Given the description of an element on the screen output the (x, y) to click on. 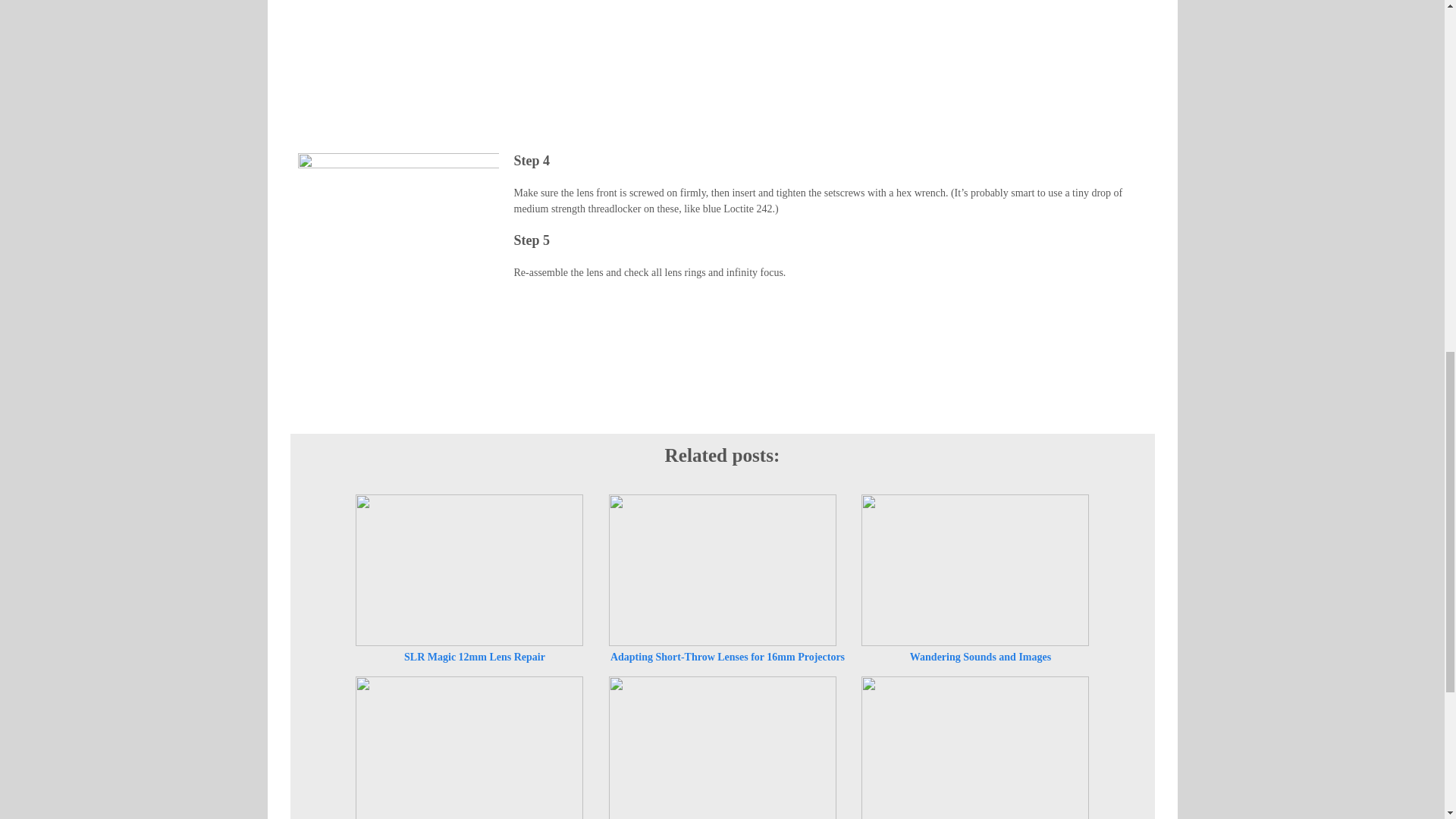
SLR Magic 12mm Lens Repair (469, 570)
Scroll back to top (1406, 720)
Canon Digital Lens Mount for JK Optical Printer (975, 745)
Repair Amaran P60c LED Panel (722, 745)
Wandering Sounds and Images (975, 570)
Adapting Short-Throw Lenses for 16mm Projectors (722, 570)
16mm Film to HD Transfer System (469, 745)
